Given the description of an element on the screen output the (x, y) to click on. 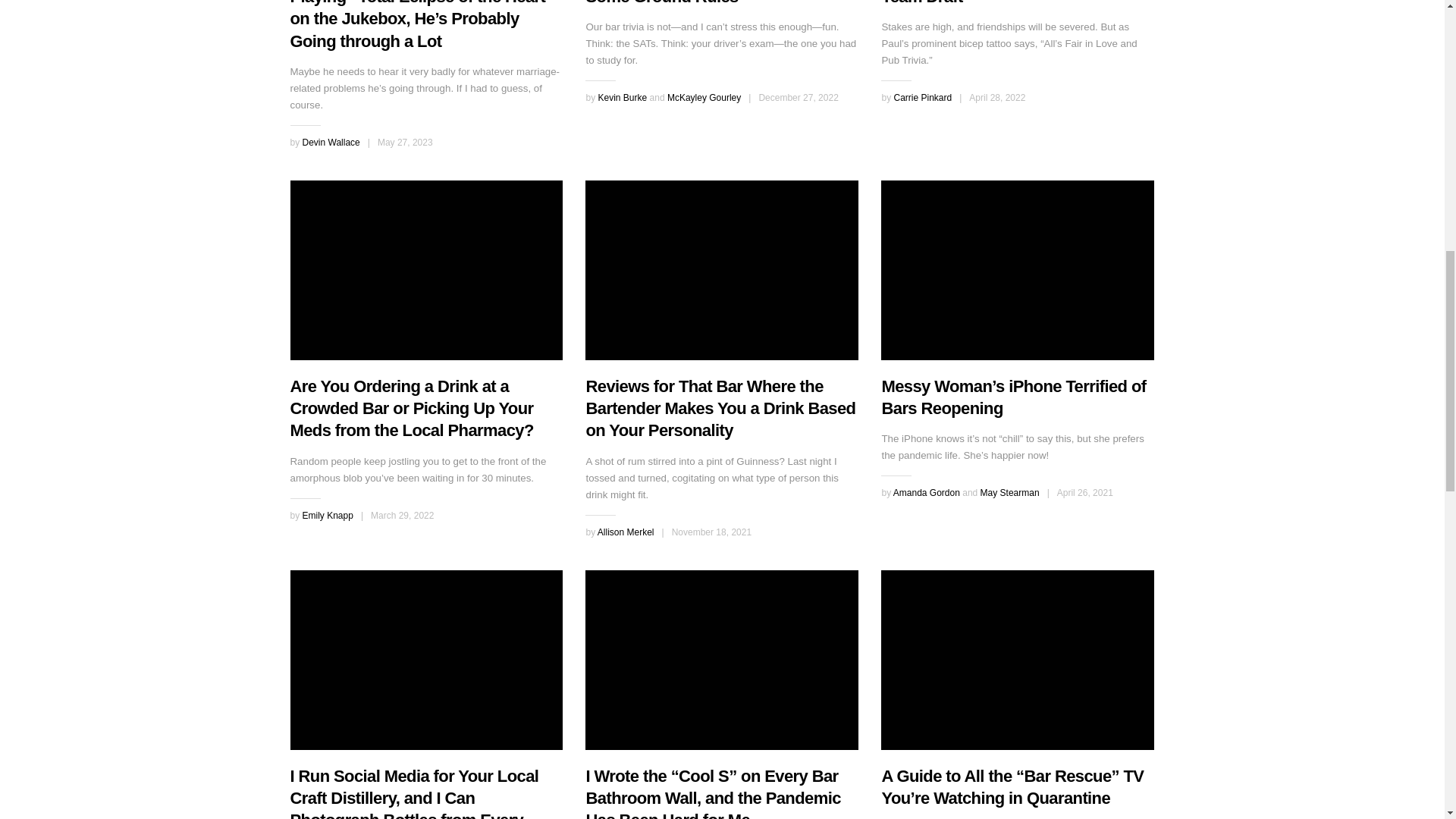
Carrie Pinkard (922, 97)
McKayley Gourley (703, 97)
Devin Wallace (330, 142)
Kevin Burke (621, 97)
Posts by Carrie Pinkard (922, 97)
Allison Merkel (624, 531)
Posts by Kevin Burke (621, 97)
Amanda Gordon (926, 492)
Emily Knapp (327, 515)
Posts by Devin Wallace (330, 142)
May Stearman (1009, 492)
